Given the description of an element on the screen output the (x, y) to click on. 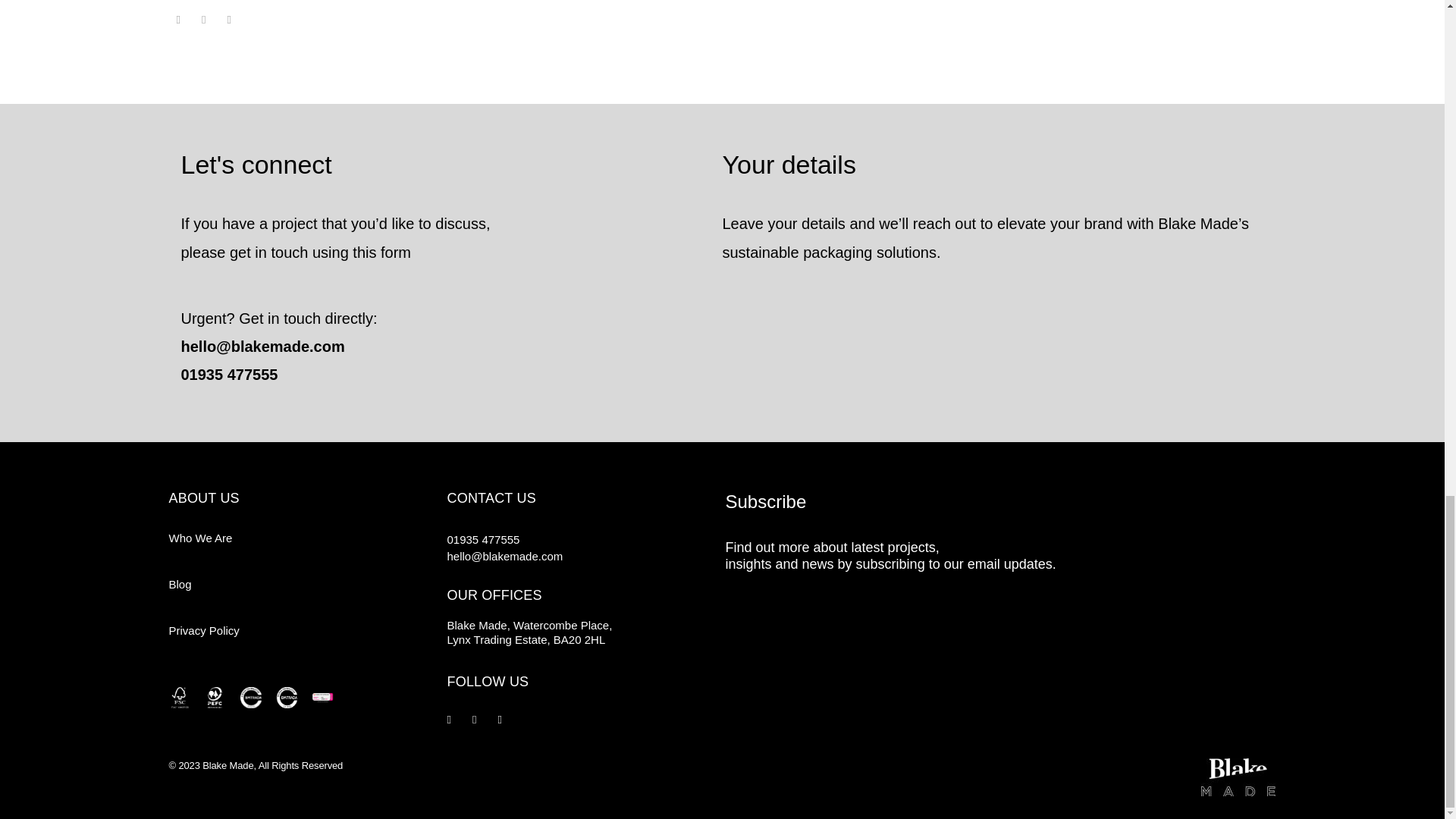
01935 477555 (229, 374)
